Given the description of an element on the screen output the (x, y) to click on. 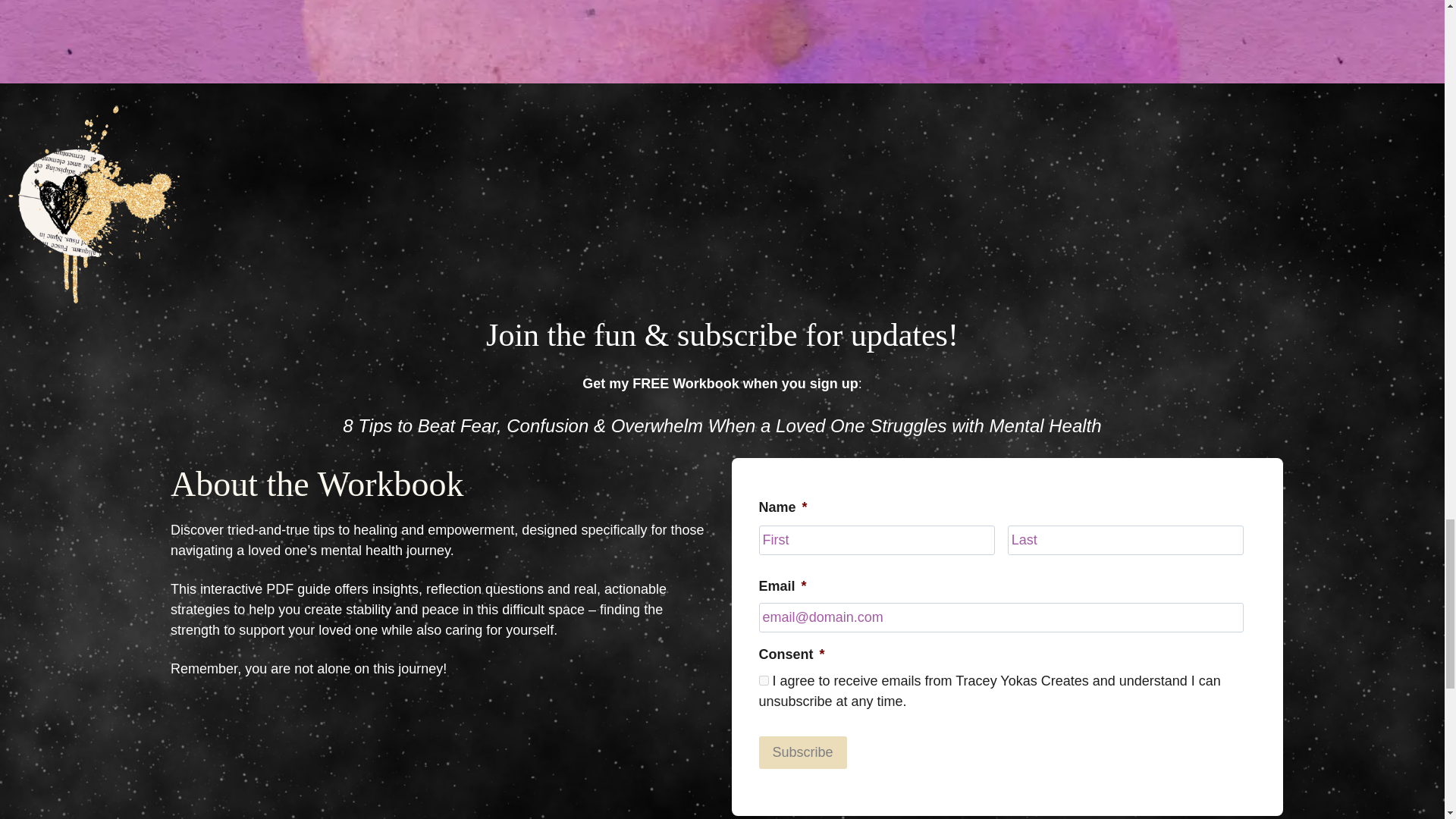
Subscribe (801, 752)
1 (763, 680)
